Given the description of an element on the screen output the (x, y) to click on. 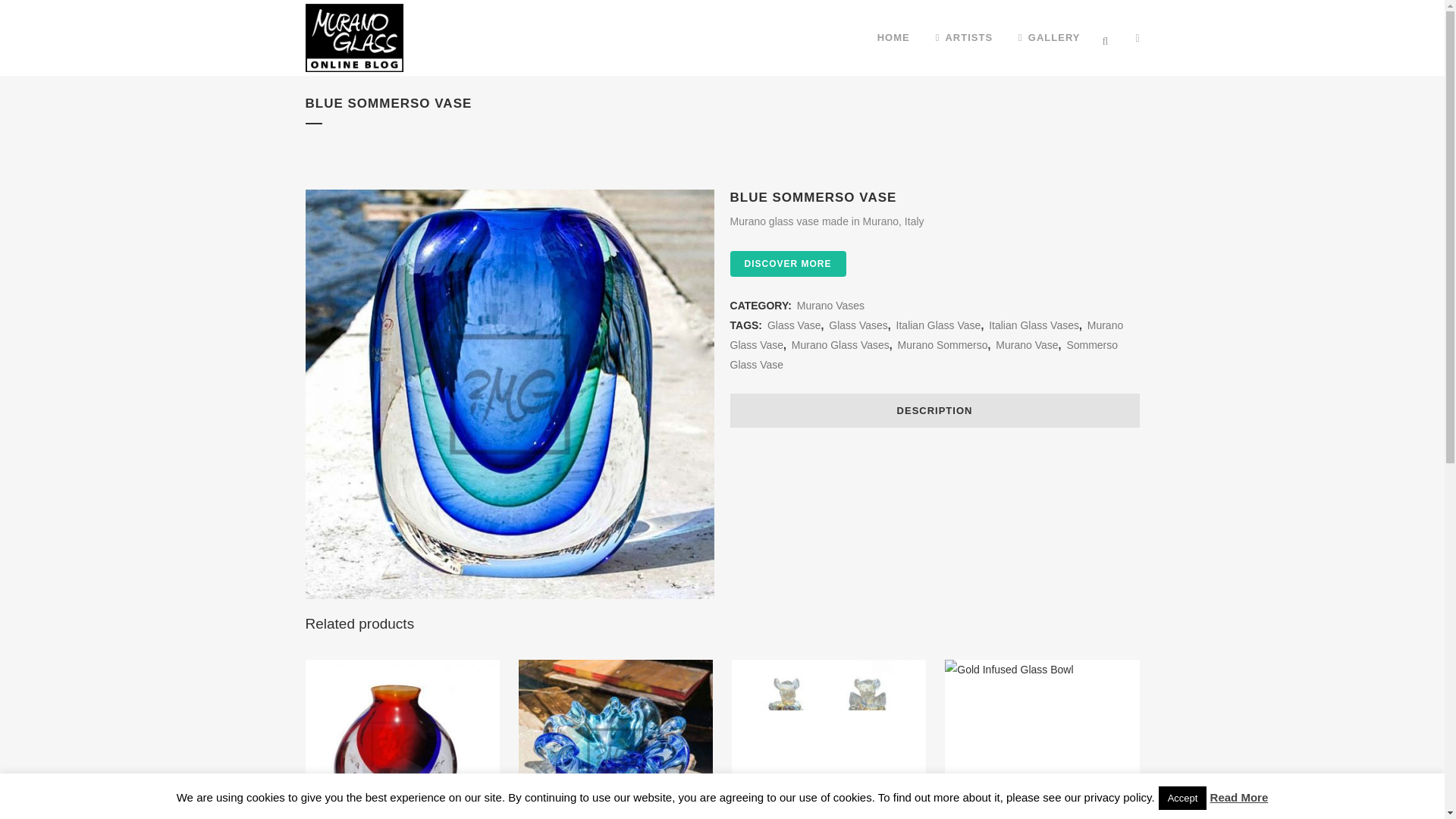
GALLERY (1049, 38)
DISCOVER MORE (787, 263)
Murano Vases (830, 305)
ARTISTS (964, 38)
Glass Vases (858, 325)
Glass Vase (794, 325)
